Given the description of an element on the screen output the (x, y) to click on. 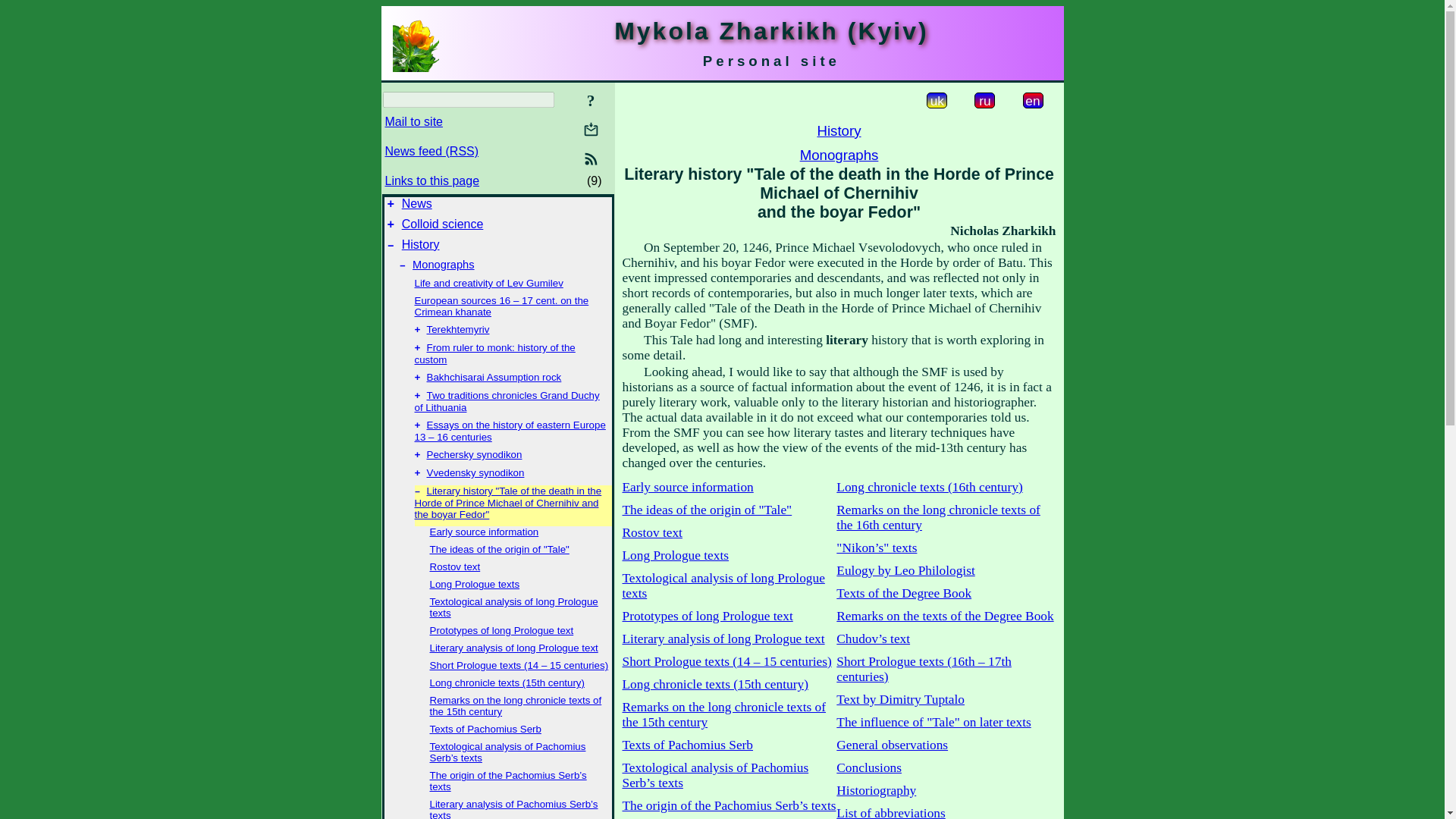
Rostov text (651, 532)
eng (1032, 100)
History (420, 244)
Links to this page (432, 180)
Life and creativity of Lev Gumilev (487, 283)
Terekhtemyriv (457, 328)
Long Prologue texts (474, 583)
Mail to site (413, 121)
News (416, 203)
Long Prologue texts (675, 554)
Mail to site (590, 129)
Colloid science (442, 223)
ukr (936, 100)
Bakhchisarai Assumption rock (493, 377)
Two traditions chronicles Grand Duchy of Lithuania (505, 401)
